Given the description of an element on the screen output the (x, y) to click on. 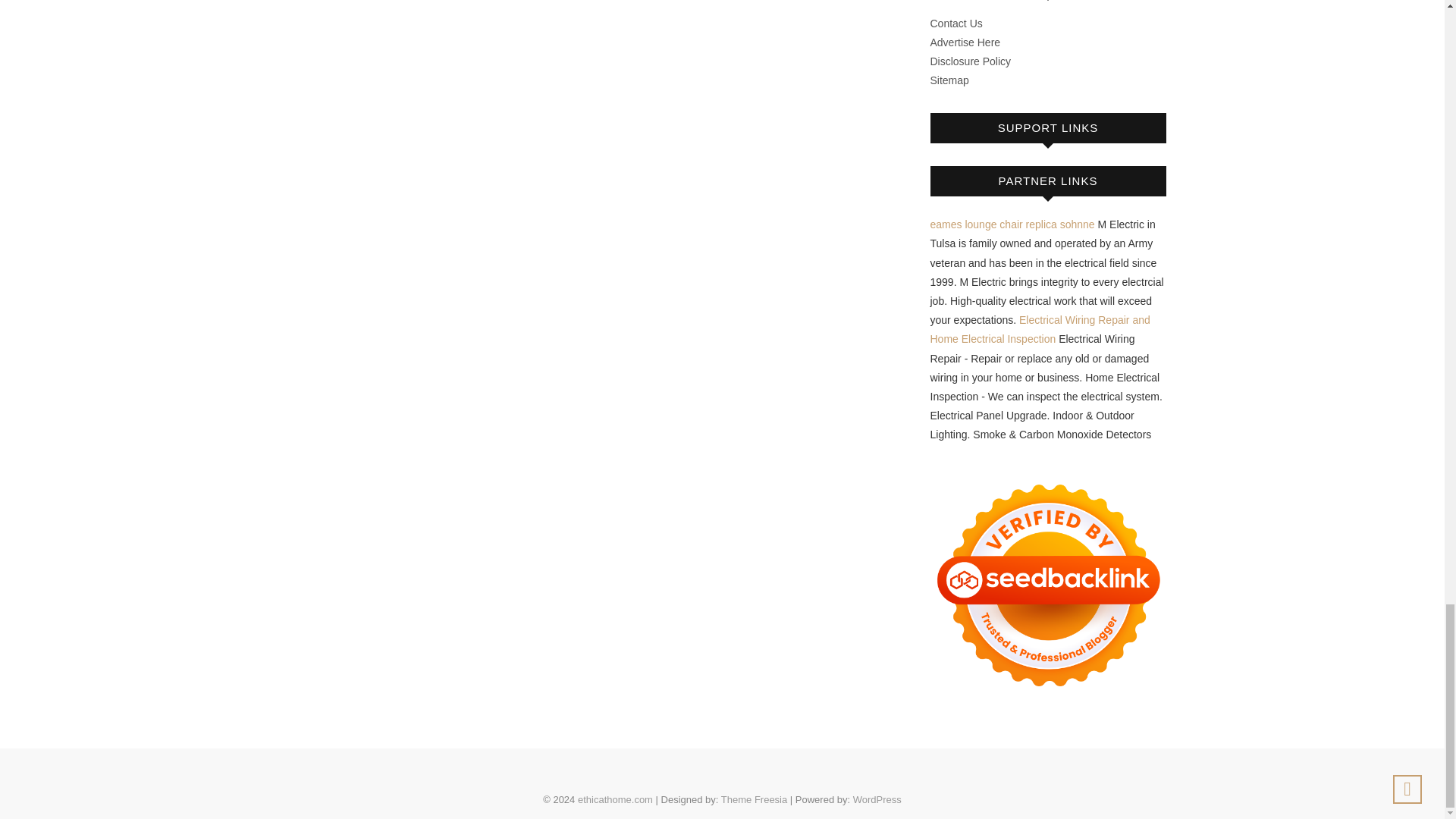
ethicathome.com (615, 799)
WordPress (877, 799)
Theme Freesia (753, 799)
Seedbacklink (1048, 585)
